Given the description of an element on the screen output the (x, y) to click on. 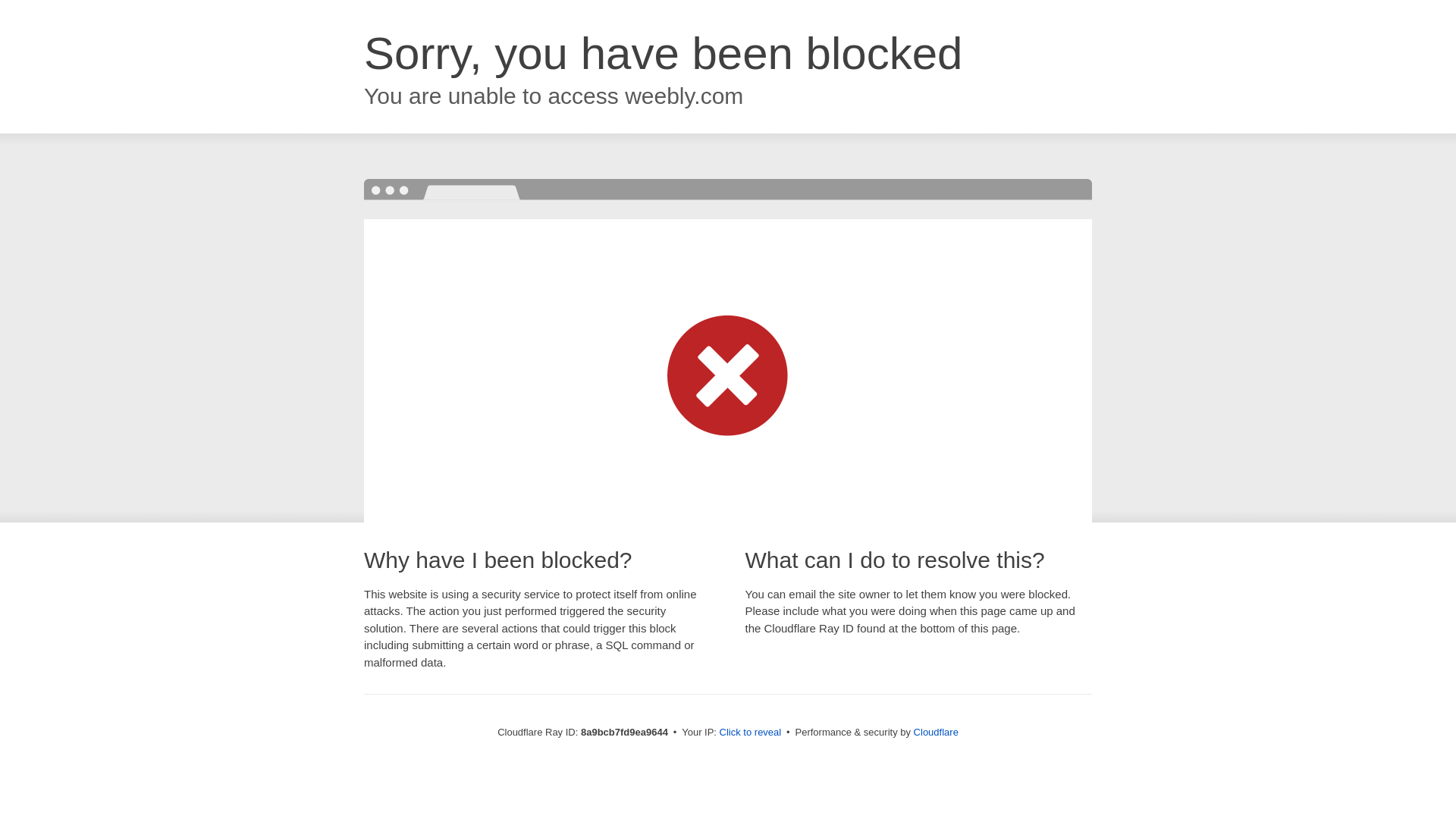
Click to reveal (750, 732)
Cloudflare (936, 731)
